Given the description of an element on the screen output the (x, y) to click on. 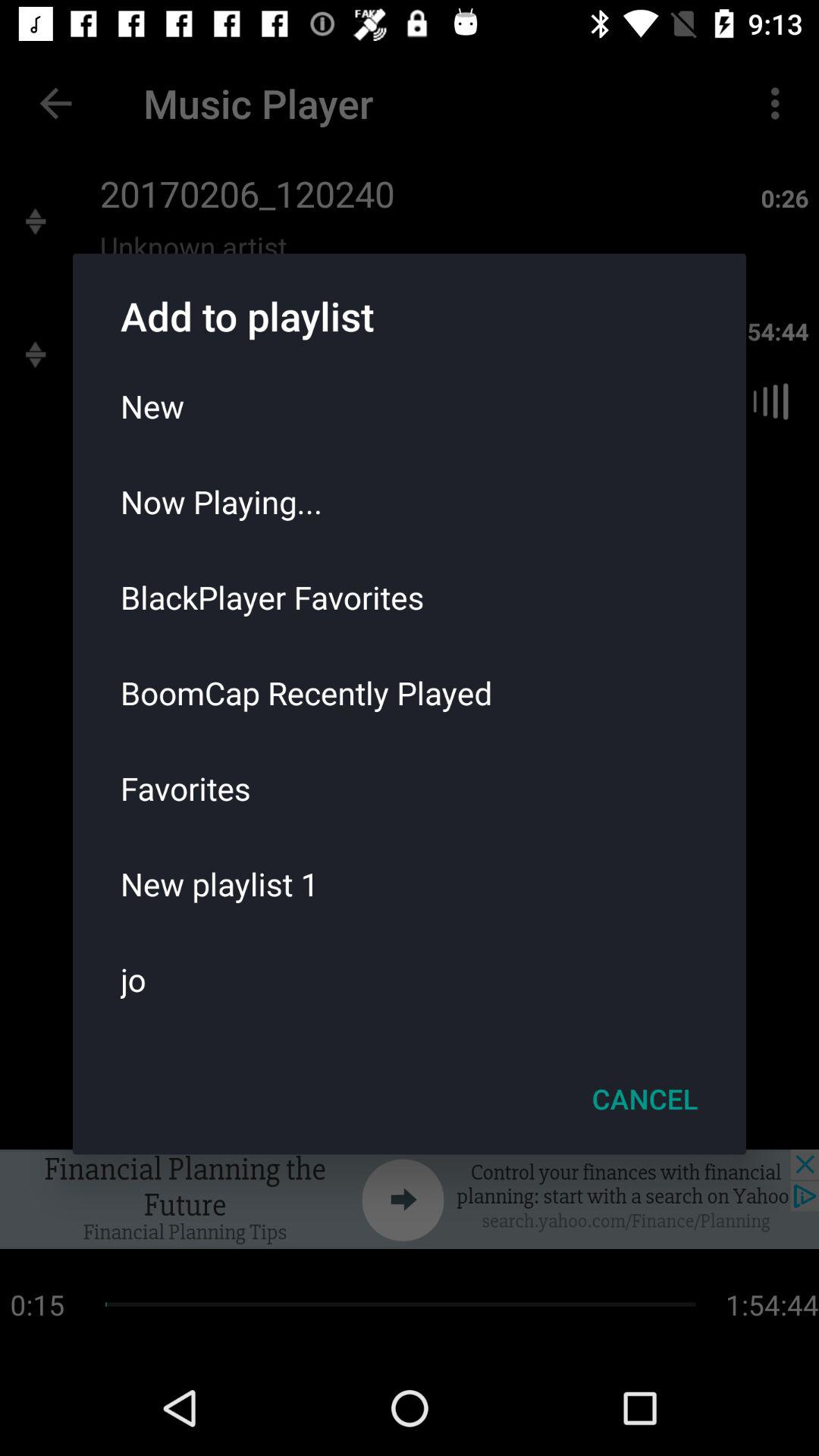
tap the icon above boomcap recently played icon (409, 596)
